Given the description of an element on the screen output the (x, y) to click on. 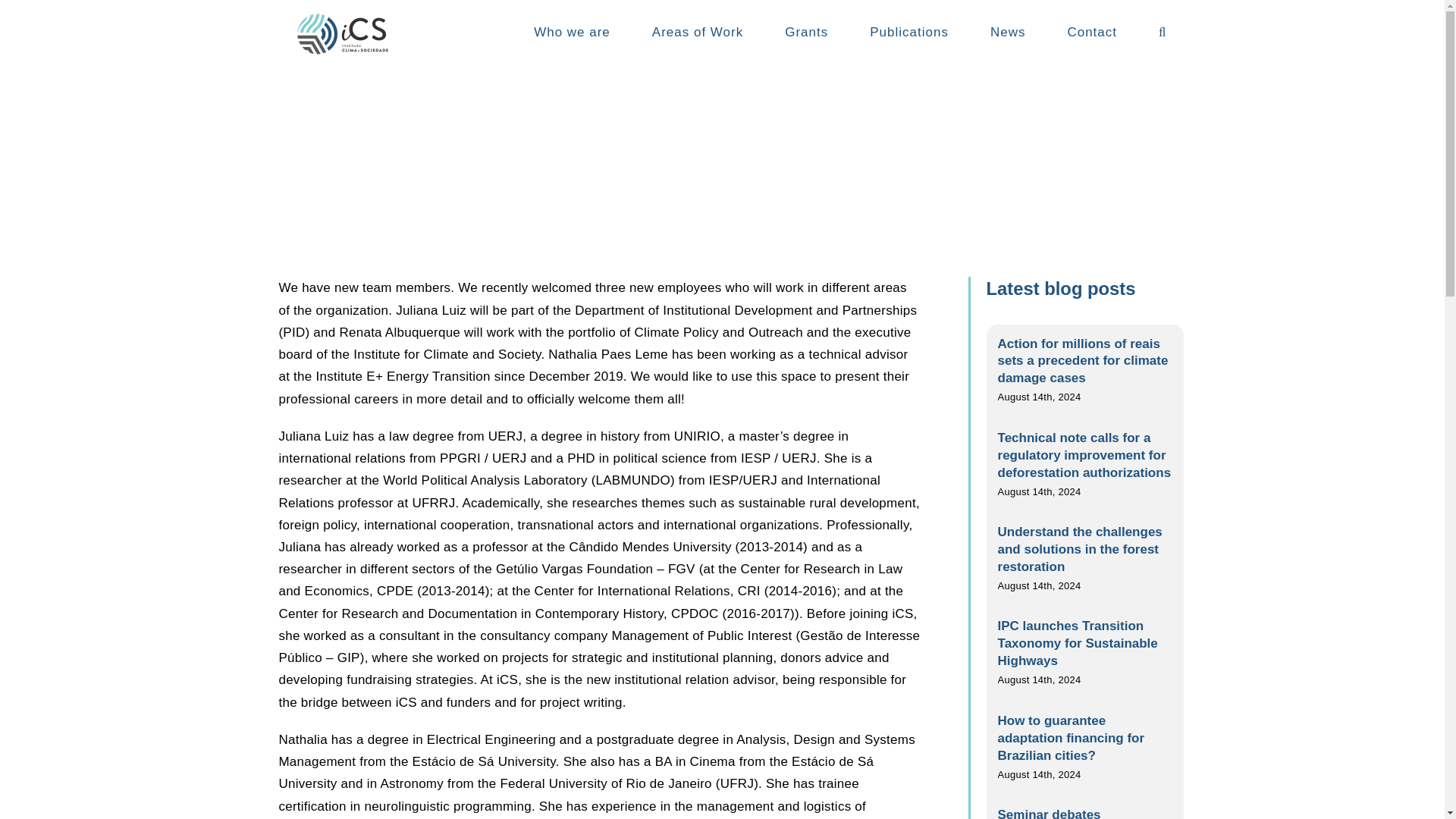
Publications (909, 32)
Who we are (572, 32)
Areas of Work (697, 32)
